Given the description of an element on the screen output the (x, y) to click on. 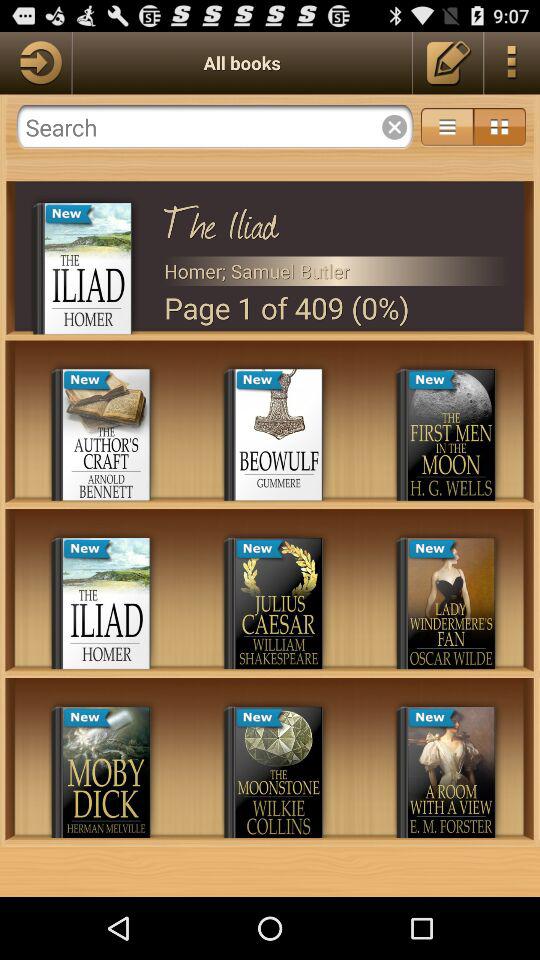
drop down menu (447, 127)
